Given the description of an element on the screen output the (x, y) to click on. 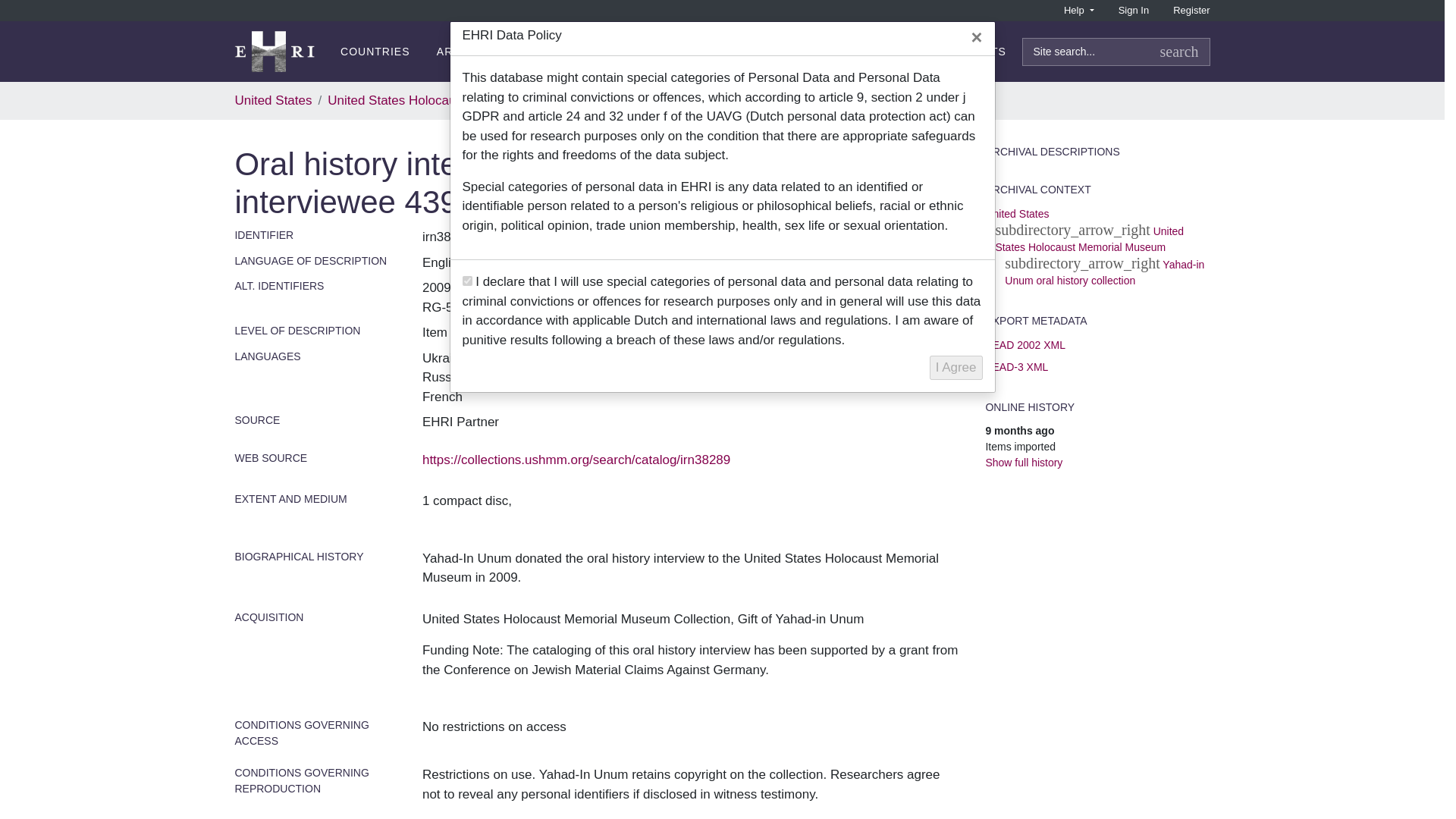
search (1179, 51)
United States Holocaust Memorial Museum (1088, 239)
United States Holocaust Memorial Museum (451, 100)
ARCHIVAL INSTITUTIONS (508, 51)
on (467, 280)
Home (280, 51)
Register (1190, 10)
EAD 2002 XML (1025, 345)
Yahad-in Unum oral history collection (697, 100)
United States (1016, 214)
I Agree (956, 367)
Sign In (1133, 10)
AUTHORITY SETS (954, 51)
EAD-3 XML (1016, 367)
ARCHIVAL DESCRIPTIONS (682, 51)
